Given the description of an element on the screen output the (x, y) to click on. 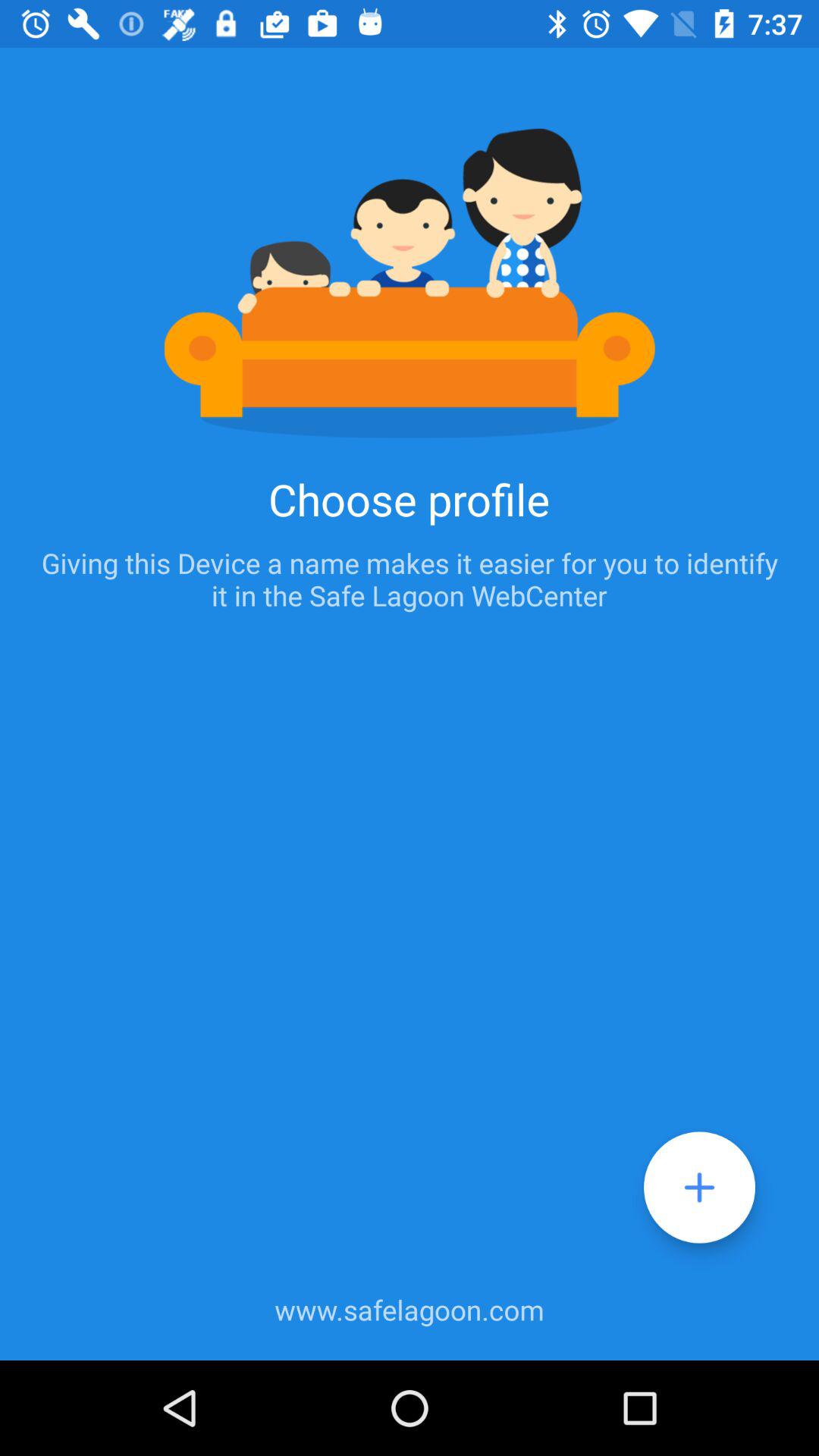
add profile (699, 1187)
